Given the description of an element on the screen output the (x, y) to click on. 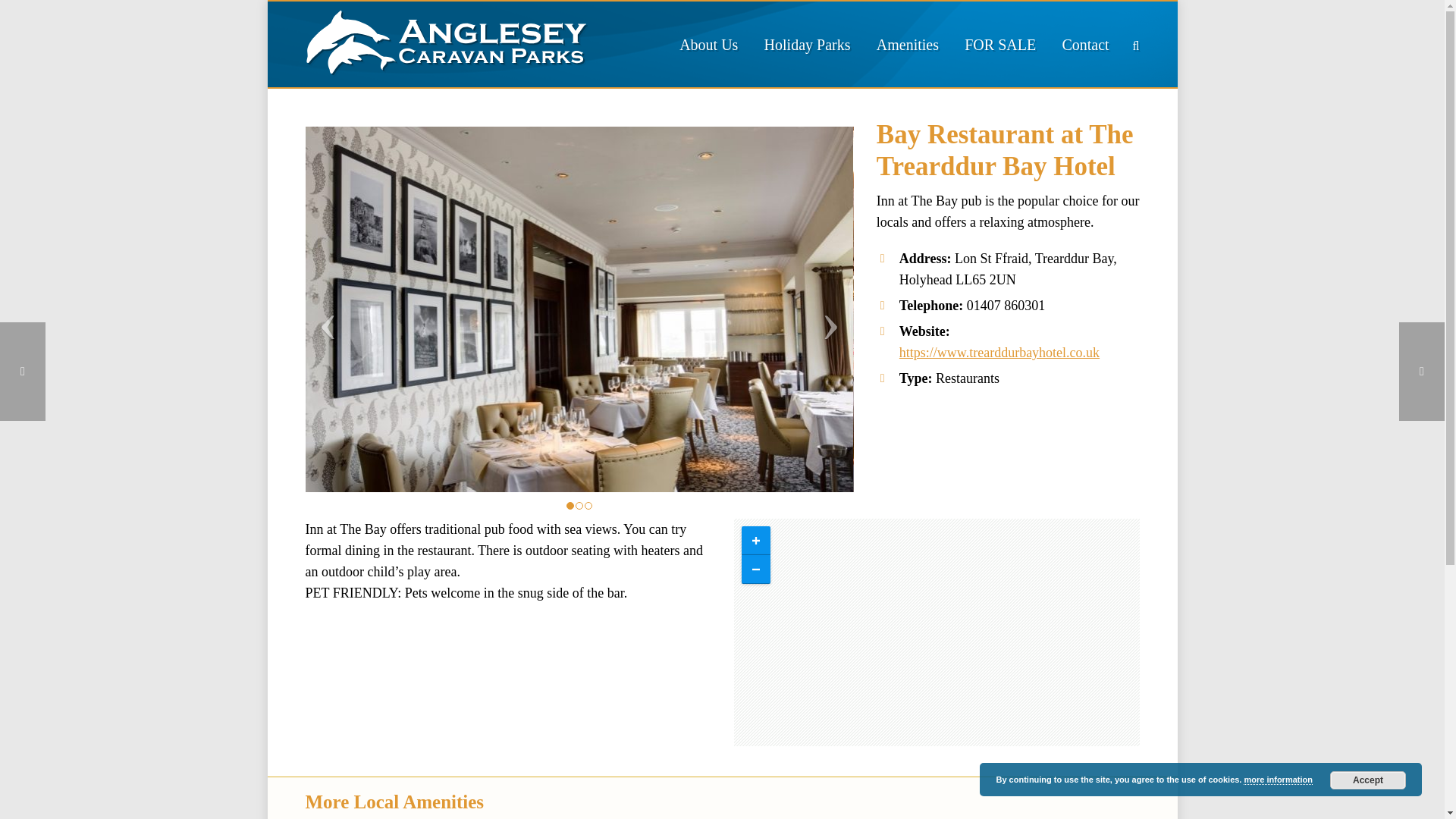
Anglesey Caravan Parks (445, 40)
Zoom out (755, 569)
Zoom in (755, 540)
About Us (708, 43)
Contact (1084, 43)
Amenities (907, 43)
FOR SALE (999, 43)
Holiday Parks (806, 43)
